Given the description of an element on the screen output the (x, y) to click on. 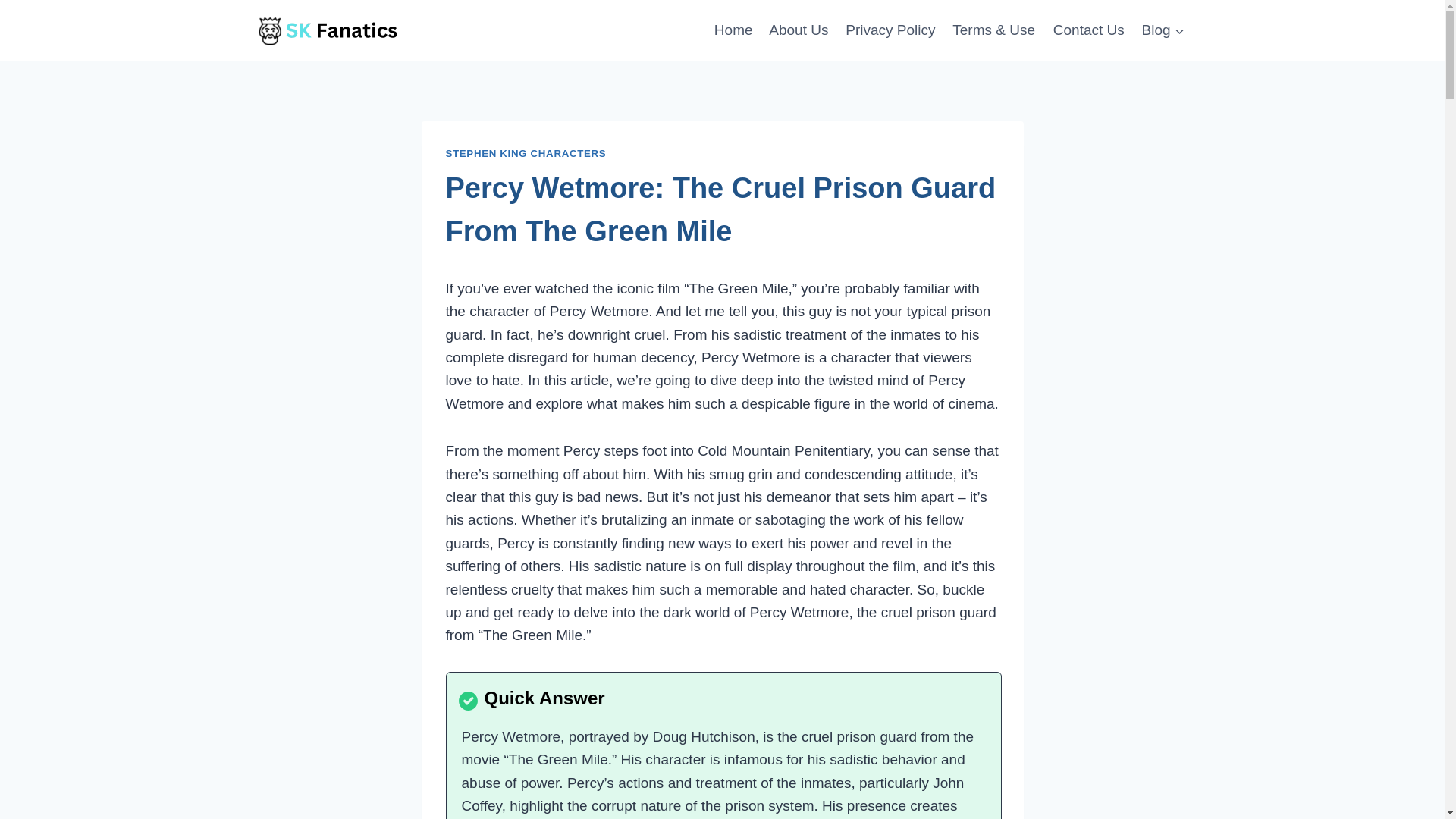
About Us (798, 29)
Privacy Policy (890, 29)
Blog (1162, 29)
STEPHEN KING CHARACTERS (526, 153)
Contact Us (1087, 29)
Home (732, 29)
